Given the description of an element on the screen output the (x, y) to click on. 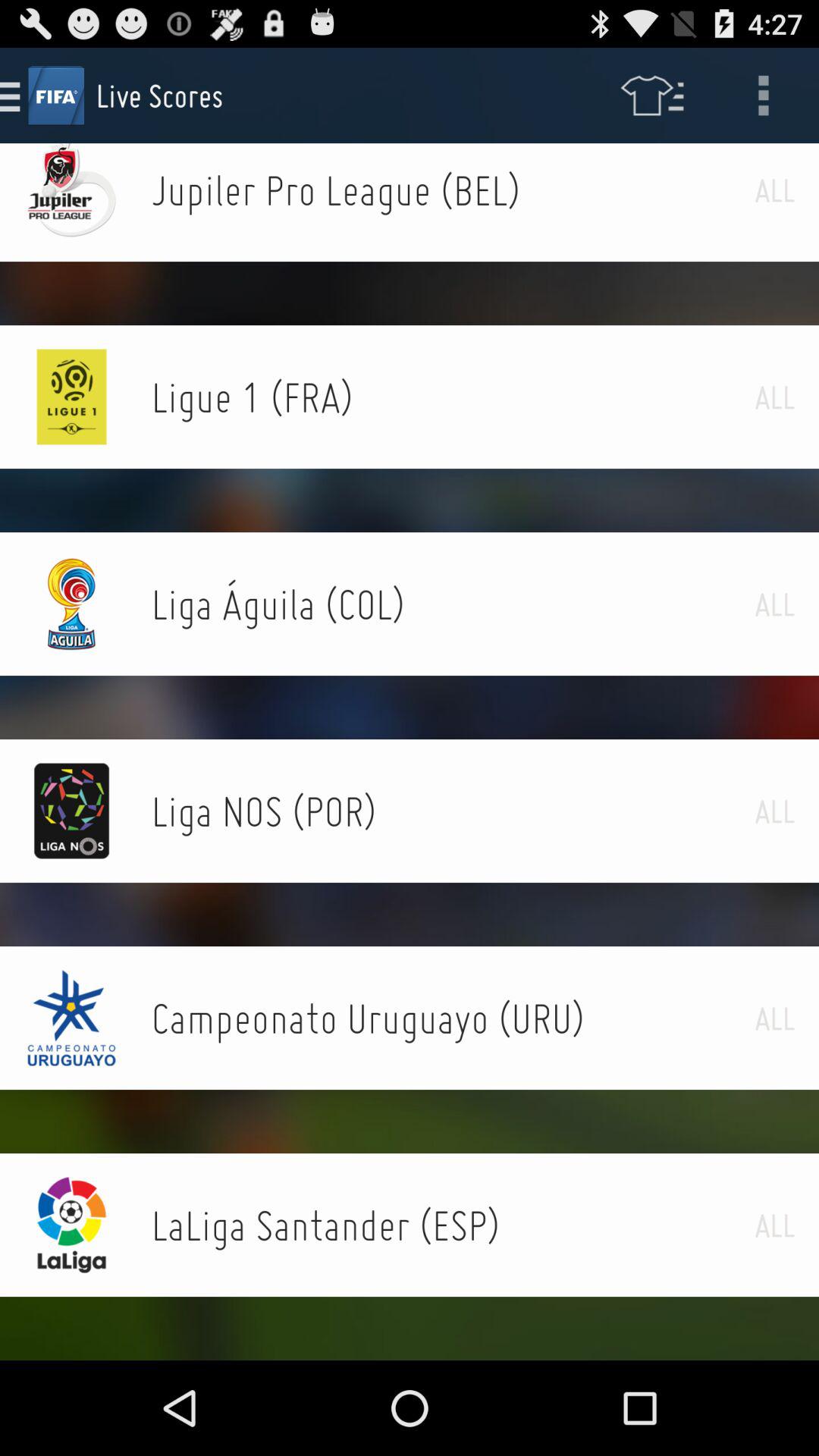
tap the laliga santander (esp) icon (452, 1224)
